Given the description of an element on the screen output the (x, y) to click on. 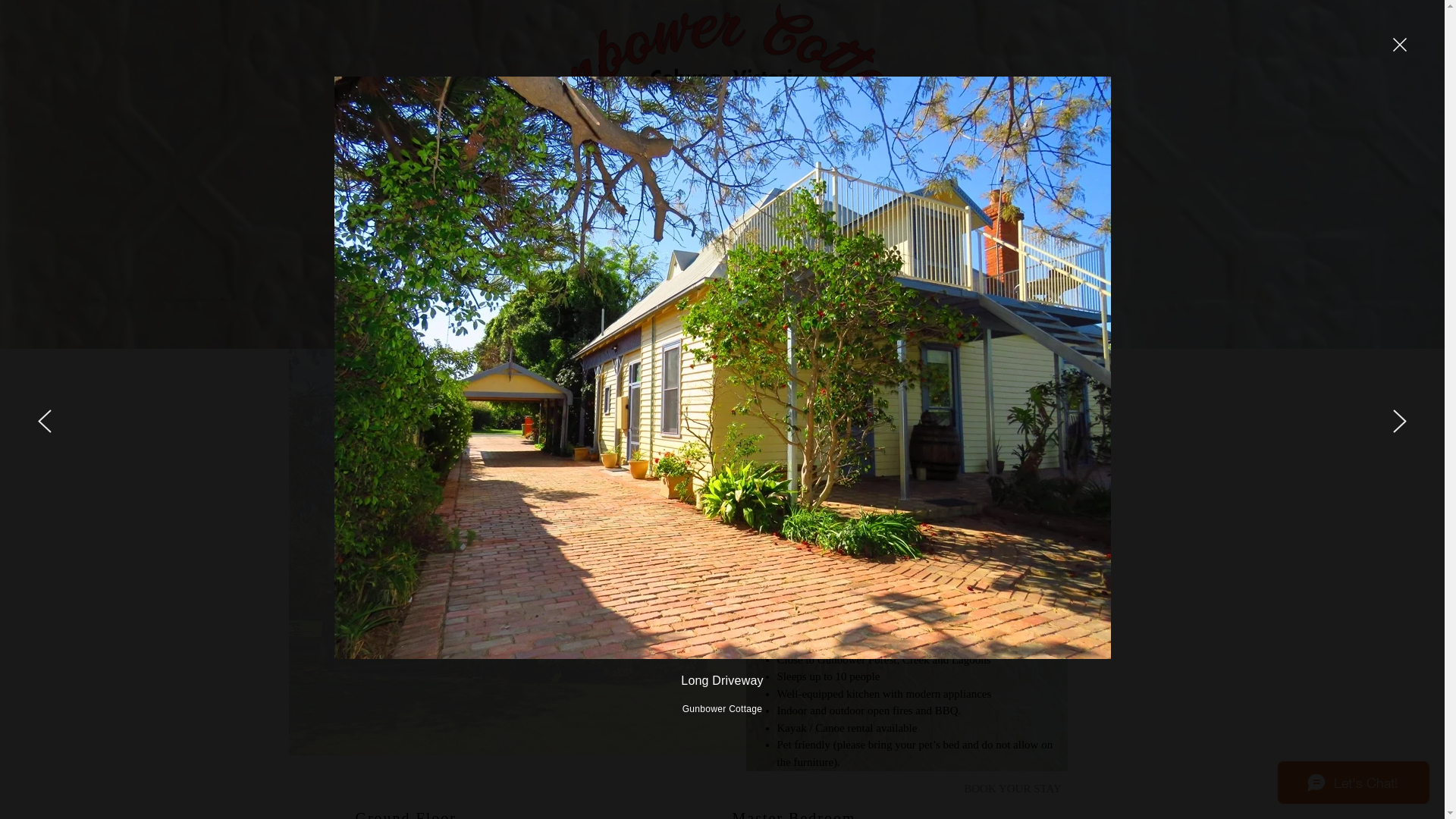
Home Element type: text (372, 321)
Book Now Element type: text (814, 321)
Contact Us Element type: text (559, 321)
Bookings Element type: text (496, 321)
Activities Element type: text (623, 321)
The Cottage Element type: text (431, 321)
BOOK YOUR STAY Element type: text (1012, 788)
